Given the description of an element on the screen output the (x, y) to click on. 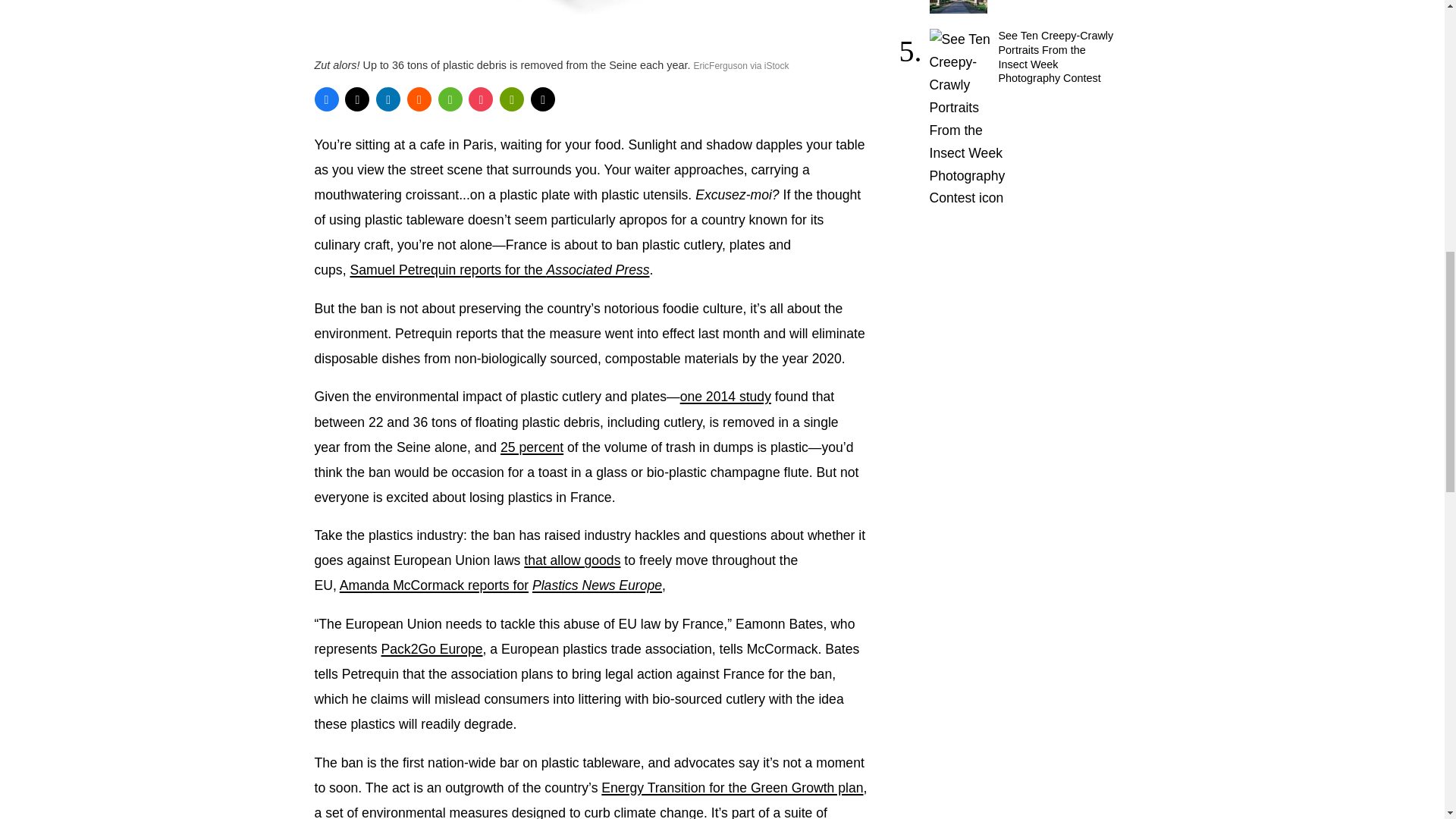
Email (542, 98)
Facebook (325, 98)
WhatsApp (450, 98)
LinkedIn (387, 98)
Print (511, 98)
Twitter (357, 98)
Pocket (480, 98)
Reddit (418, 98)
